Given the description of an element on the screen output the (x, y) to click on. 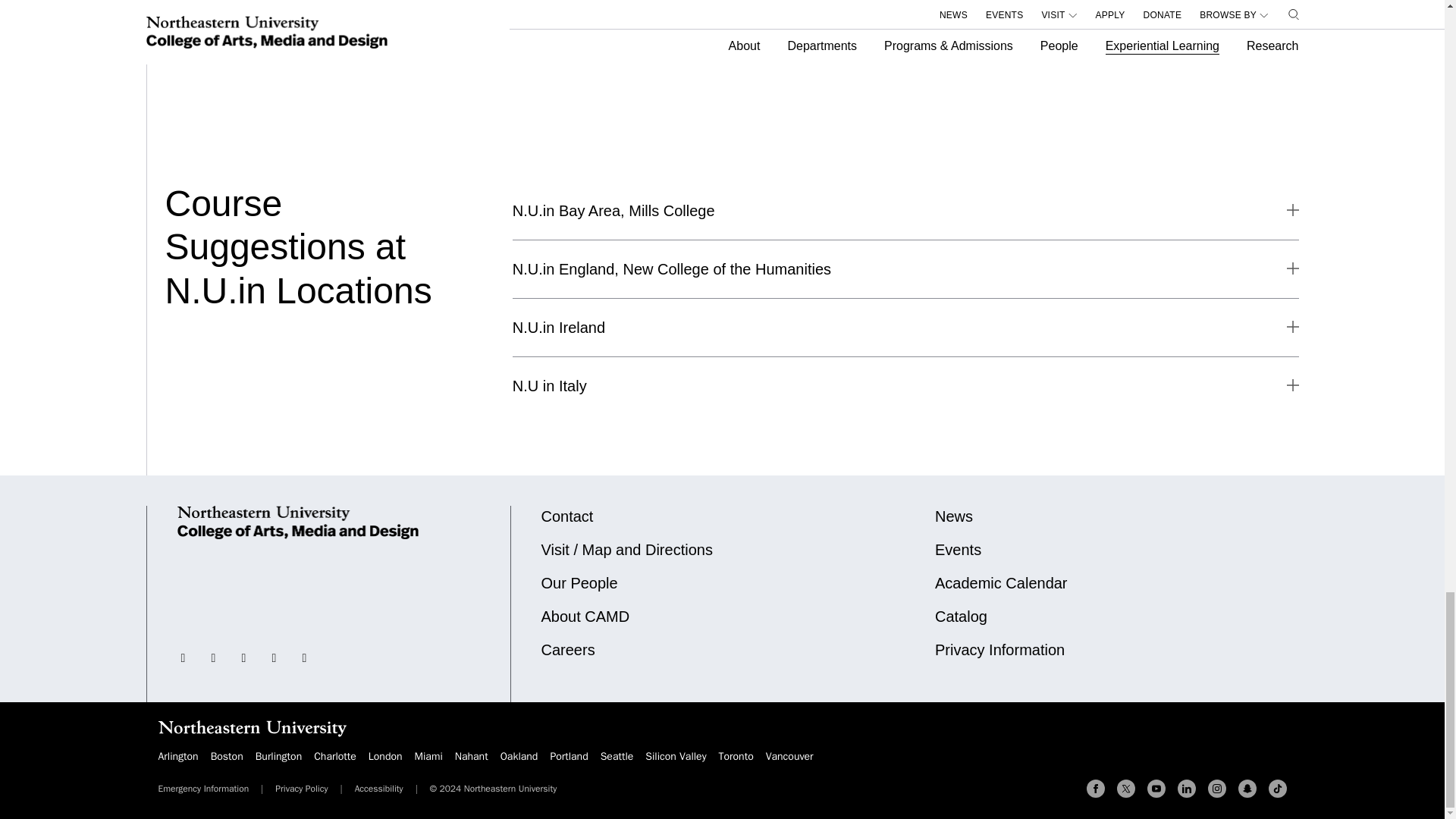
Social Link - youtube (304, 657)
Linkedin (1185, 788)
Facebook (1094, 788)
Instagram (1216, 788)
Social Link - linkedin (244, 657)
Social Link - facebook (274, 657)
YouTube (1155, 788)
TikTok (1276, 788)
Social Link - instagram (213, 657)
Social Link - twitter (183, 657)
